Given the description of an element on the screen output the (x, y) to click on. 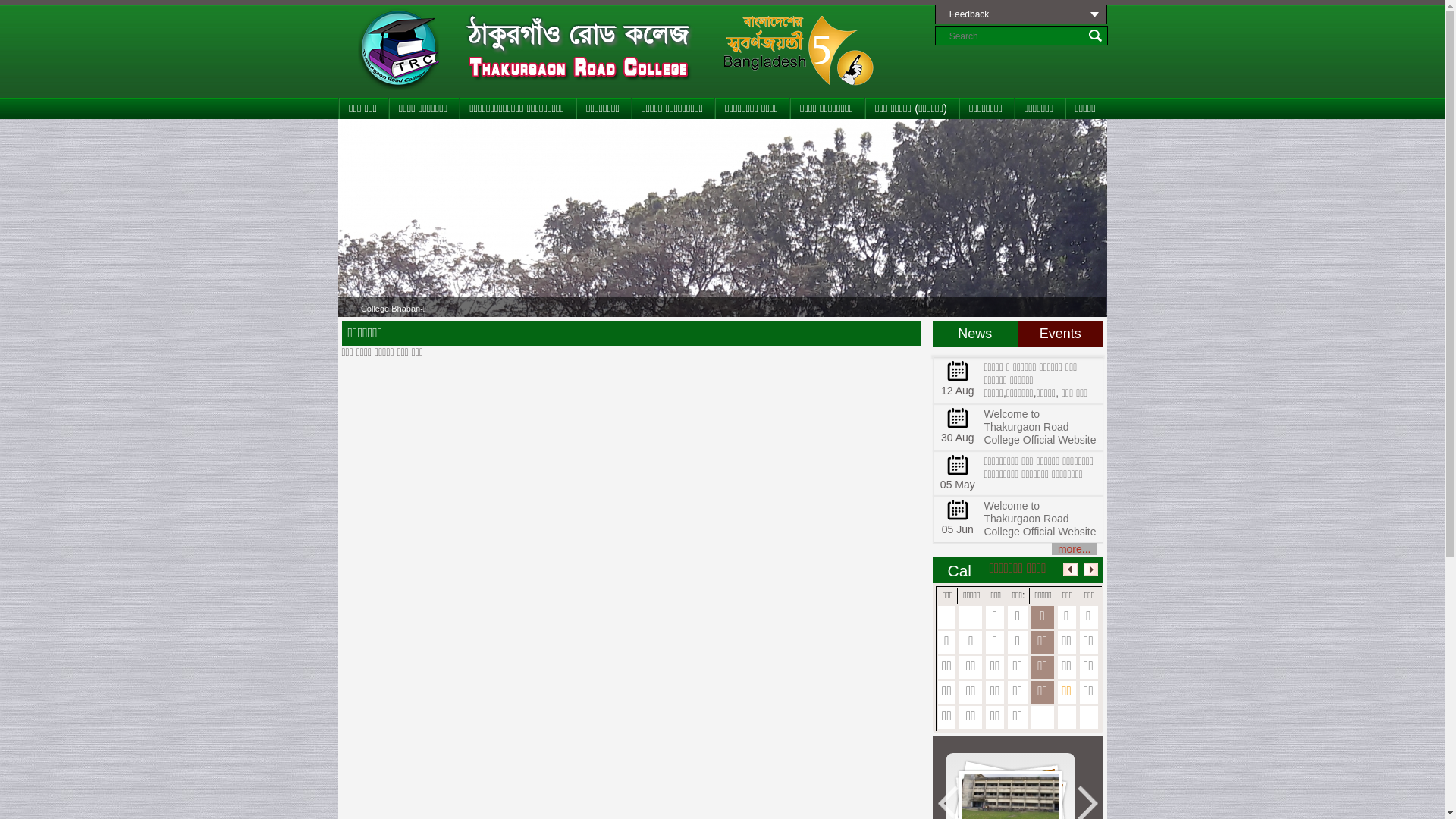
Welcome to Thakurgaon Road College Official Website Element type: text (1039, 518)
Feedback Element type: text (1020, 14)
News Element type: text (975, 333)
Events Element type: text (1060, 333)
more... Element type: text (1074, 548)
Welcome to Thakurgaon Road College Official Website Element type: text (1039, 426)
